Given the description of an element on the screen output the (x, y) to click on. 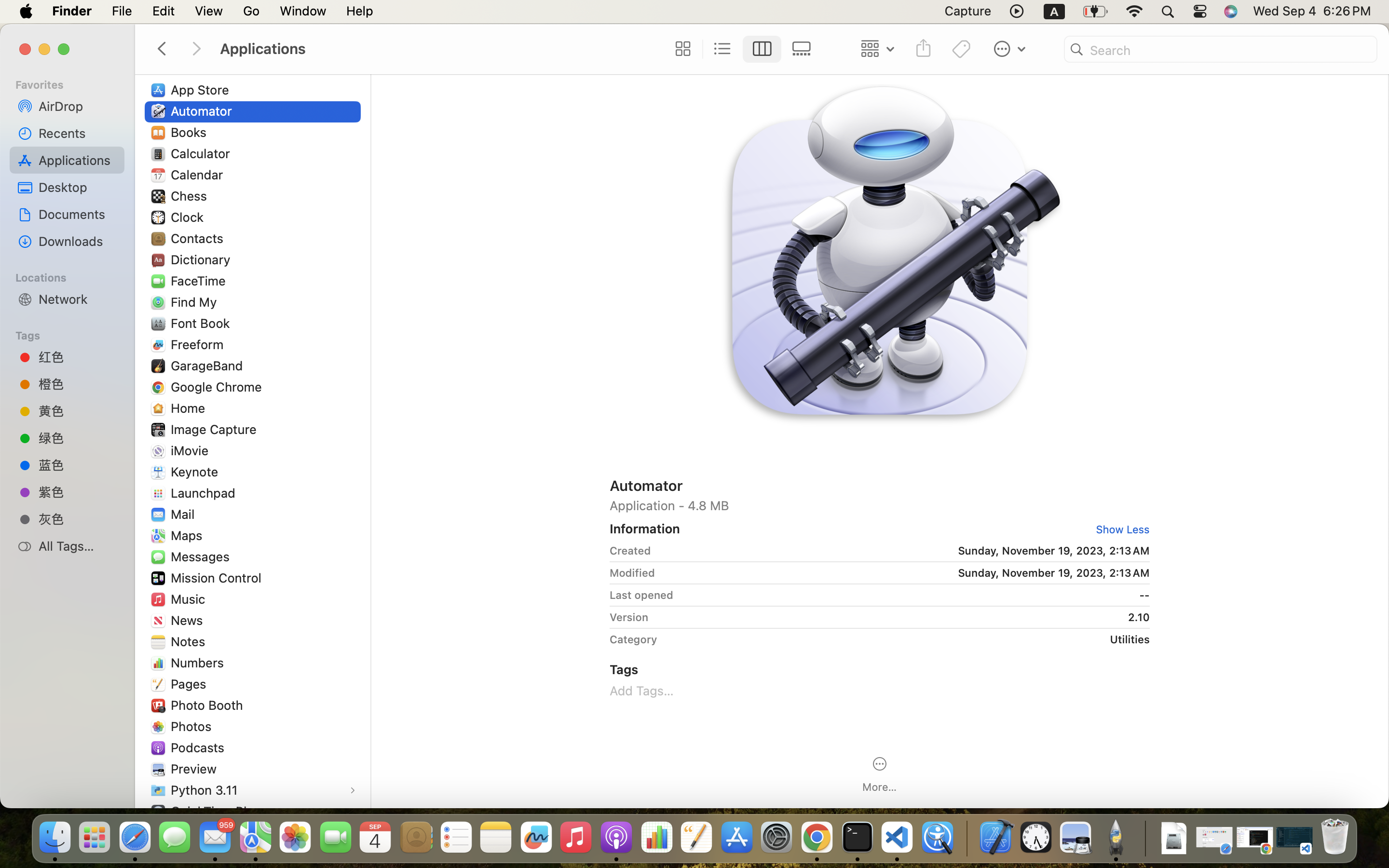
Books Element type: AXTextField (190, 131)
Sunday, November 19, 2023, 2:13 AM Element type: AXStaticText (903, 550)
2.10 Element type: AXStaticText (901, 616)
AirDrop Element type: AXStaticText (77, 105)
Utilities Element type: AXStaticText (906, 639)
